Given the description of an element on the screen output the (x, y) to click on. 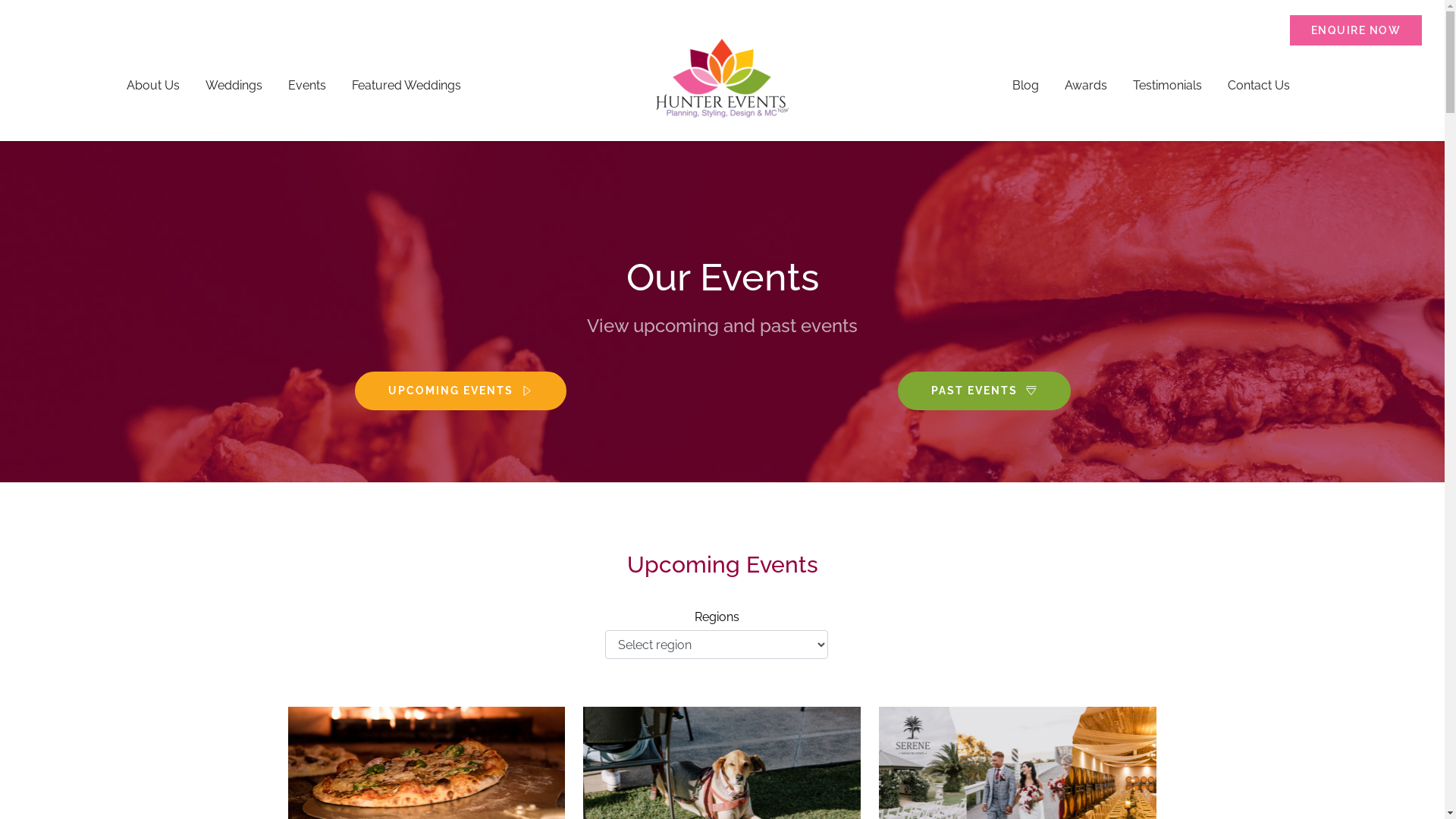
ENQUIRE NOW Element type: text (1355, 30)
About Us Element type: text (152, 85)
Blog Element type: text (1025, 85)
Featured Weddings Element type: text (405, 85)
Contact Us Element type: text (1258, 85)
Testimonials Element type: text (1167, 85)
Events Element type: text (306, 85)
UPCOMING EVENTS Element type: text (460, 391)
Weddings Element type: text (233, 85)
Awards Element type: text (1085, 85)
PAST EVENTS Element type: text (983, 391)
